Given the description of an element on the screen output the (x, y) to click on. 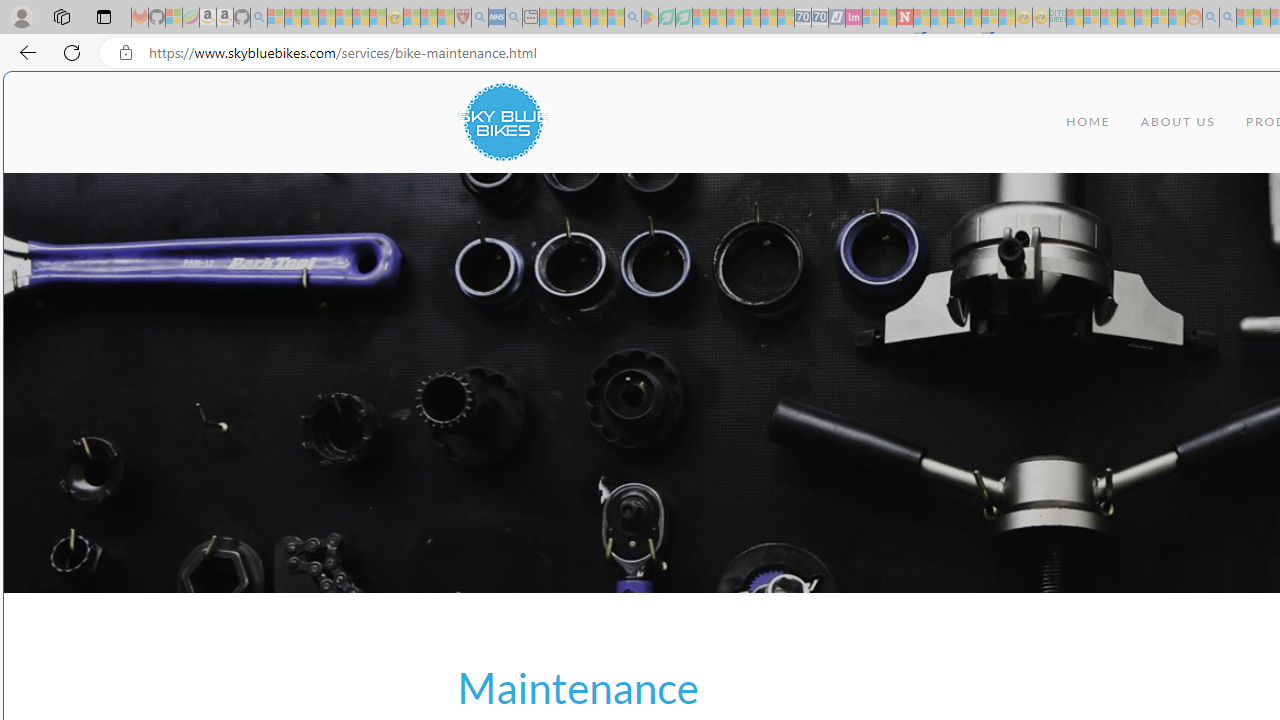
Local - MSN - Sleeping (445, 17)
HOME (1088, 122)
google - Search - Sleeping (632, 17)
